Given the description of an element on the screen output the (x, y) to click on. 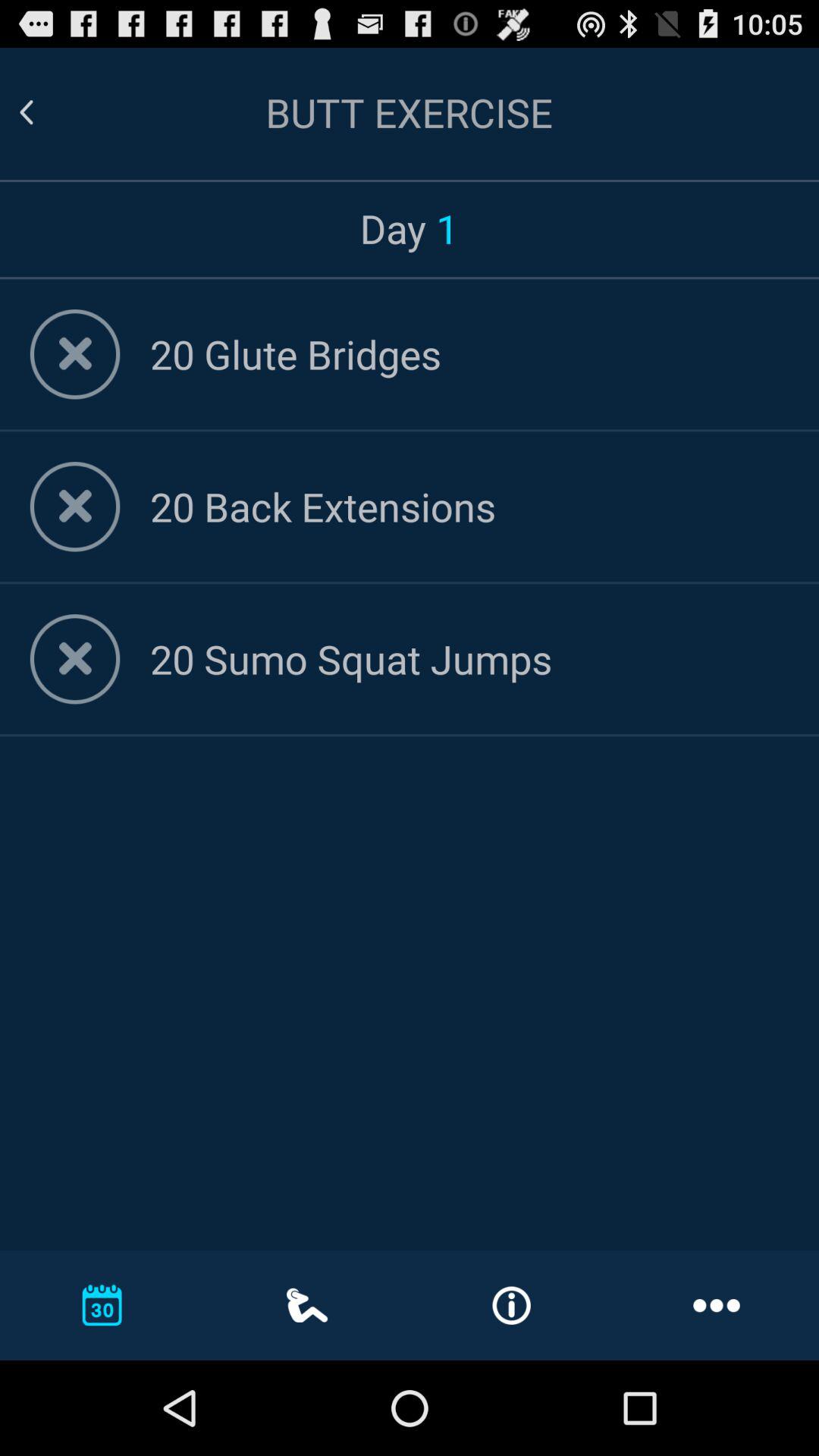
remove selected option (75, 506)
